Given the description of an element on the screen output the (x, y) to click on. 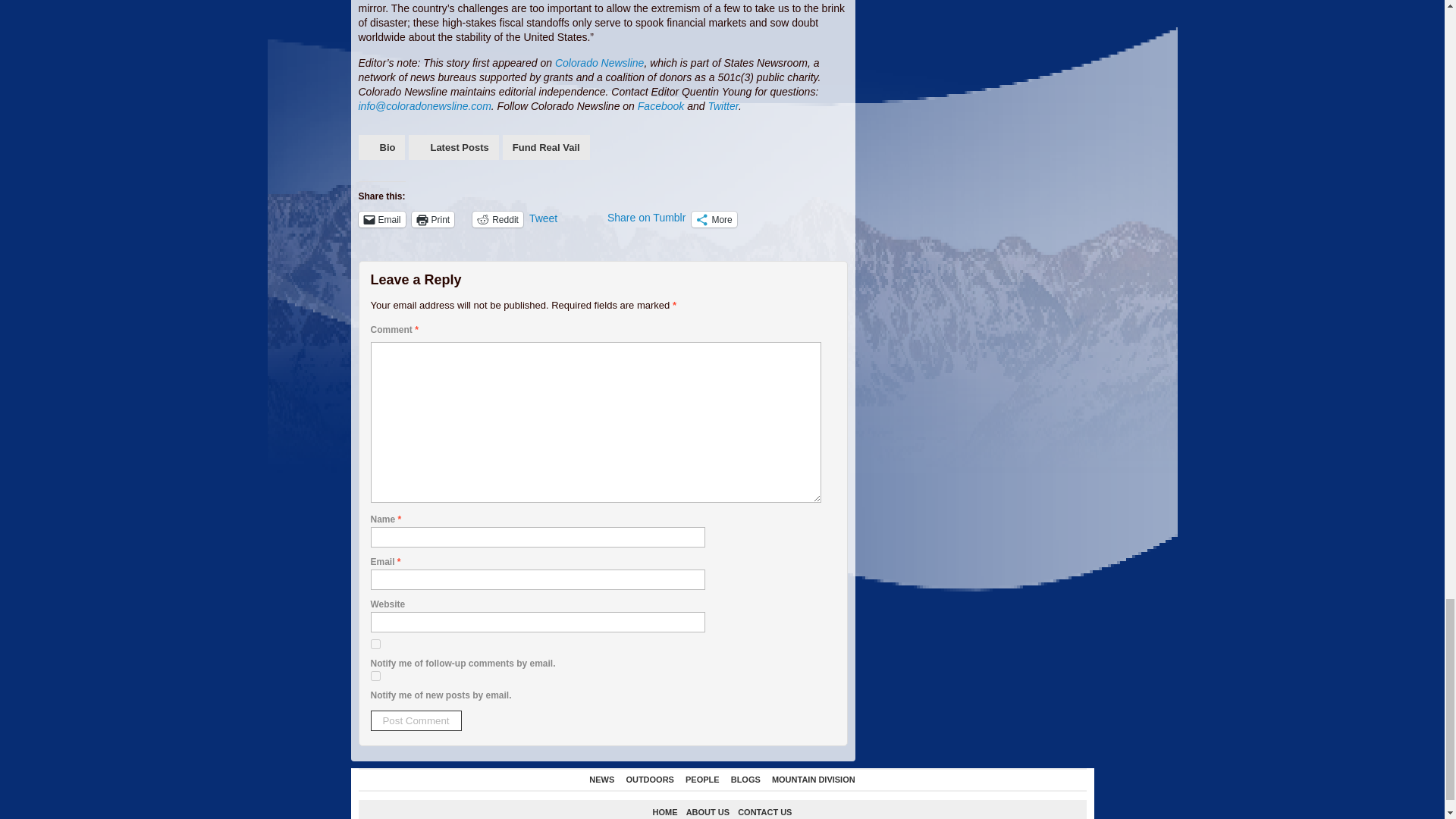
subscribe (374, 675)
Bio (381, 147)
Latest Posts (453, 147)
Click to email a link to a friend (381, 219)
Click to print (433, 219)
Share on Tumblr (646, 218)
Colorado Newsline (599, 62)
subscribe (374, 644)
Facebook (660, 105)
Post Comment (415, 720)
